Given the description of an element on the screen output the (x, y) to click on. 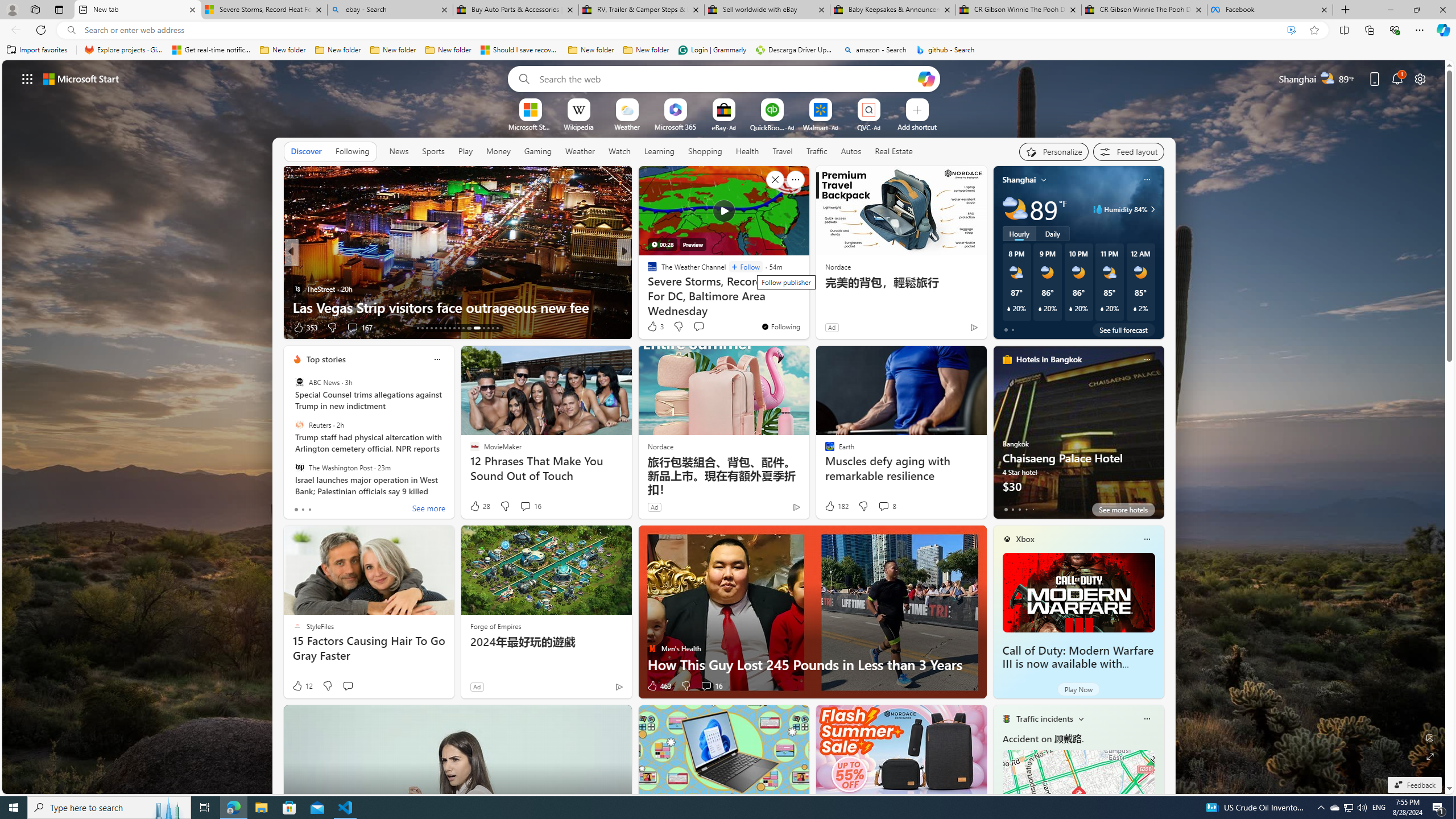
github - Search (945, 49)
hotels-header-icon (1006, 358)
View comments 1 Comment (703, 327)
Play (465, 151)
ebay - Search (389, 9)
99 Like (652, 327)
Search icon (70, 29)
News (398, 151)
The Washington Post (299, 466)
View comments 96 Comment (6, 327)
